Given the description of an element on the screen output the (x, y) to click on. 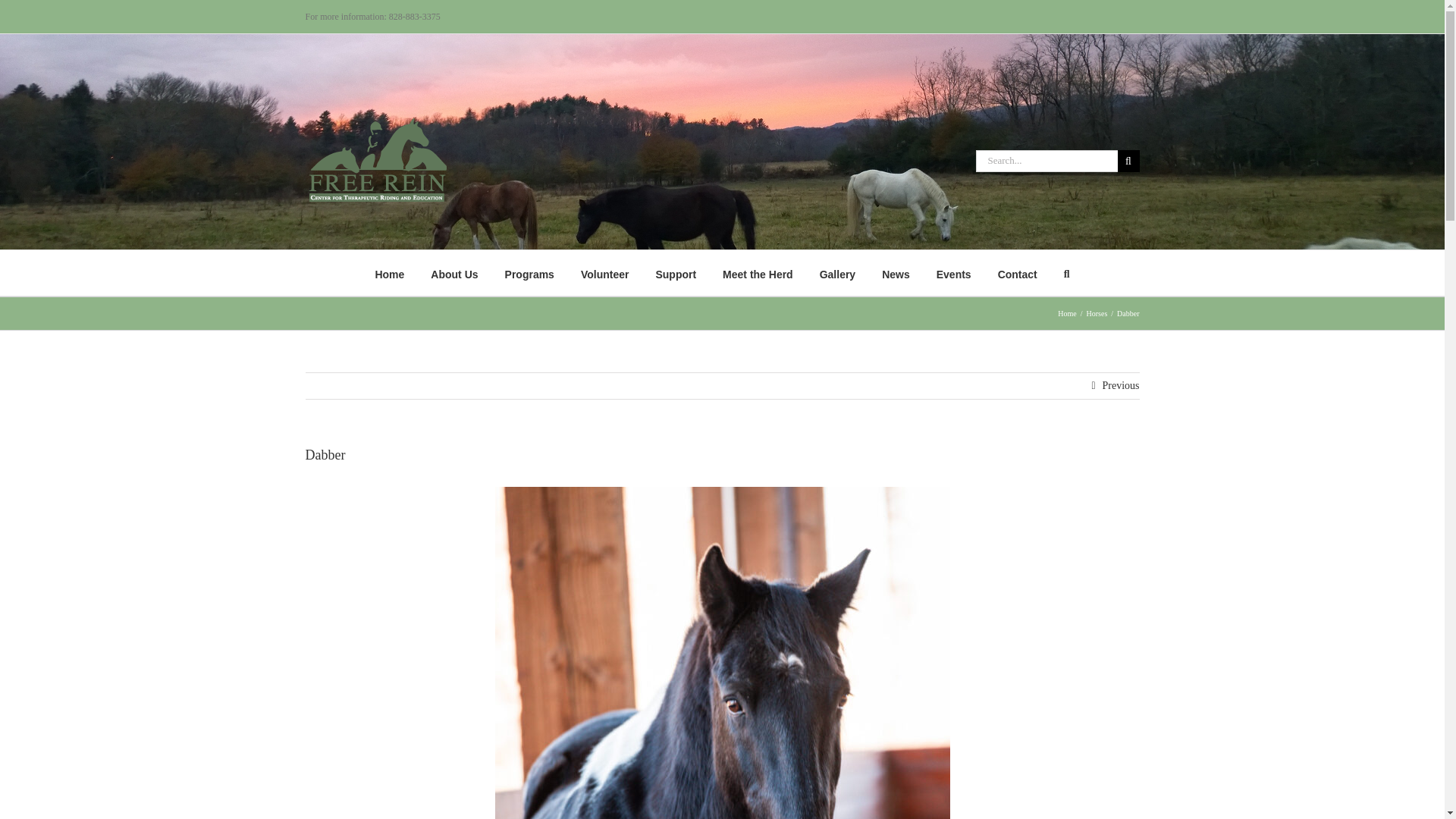
Events (953, 272)
Home (389, 272)
Search (1067, 272)
Programs (529, 272)
Meet the Herd (757, 272)
About Us (453, 272)
Support (675, 272)
Gallery (837, 272)
Contact (1016, 272)
News (896, 272)
Volunteer (604, 272)
